Given the description of an element on the screen output the (x, y) to click on. 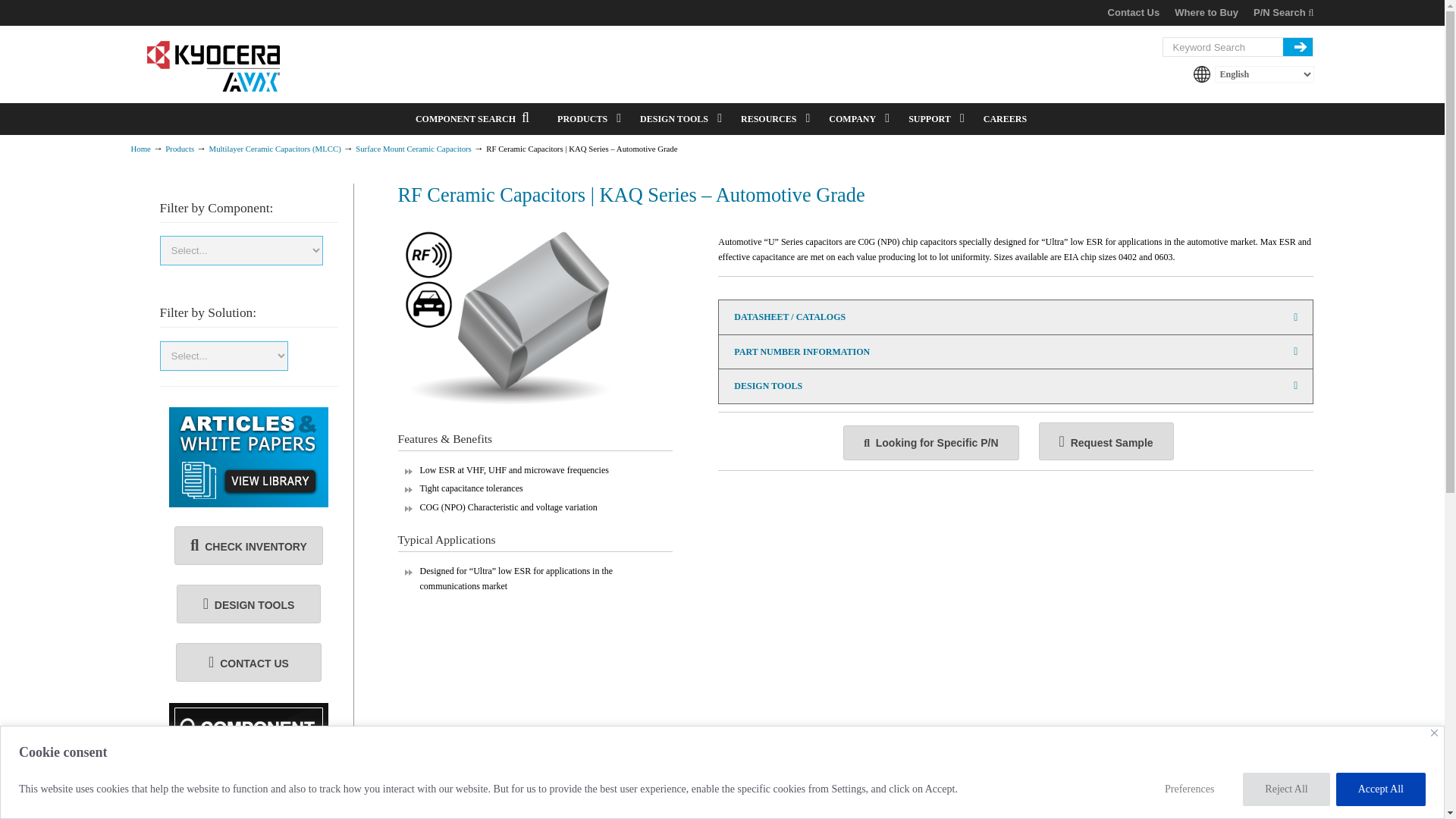
Where to Buy (1206, 12)
Contact Us (248, 661)
Stock Check (247, 545)
search (1297, 46)
KYOCERA AVX (214, 66)
Accept All (1380, 788)
Preferences (1194, 788)
Design Tools (248, 603)
PRODUCTS (584, 119)
KYOCERA AVX (214, 66)
